Given the description of an element on the screen output the (x, y) to click on. 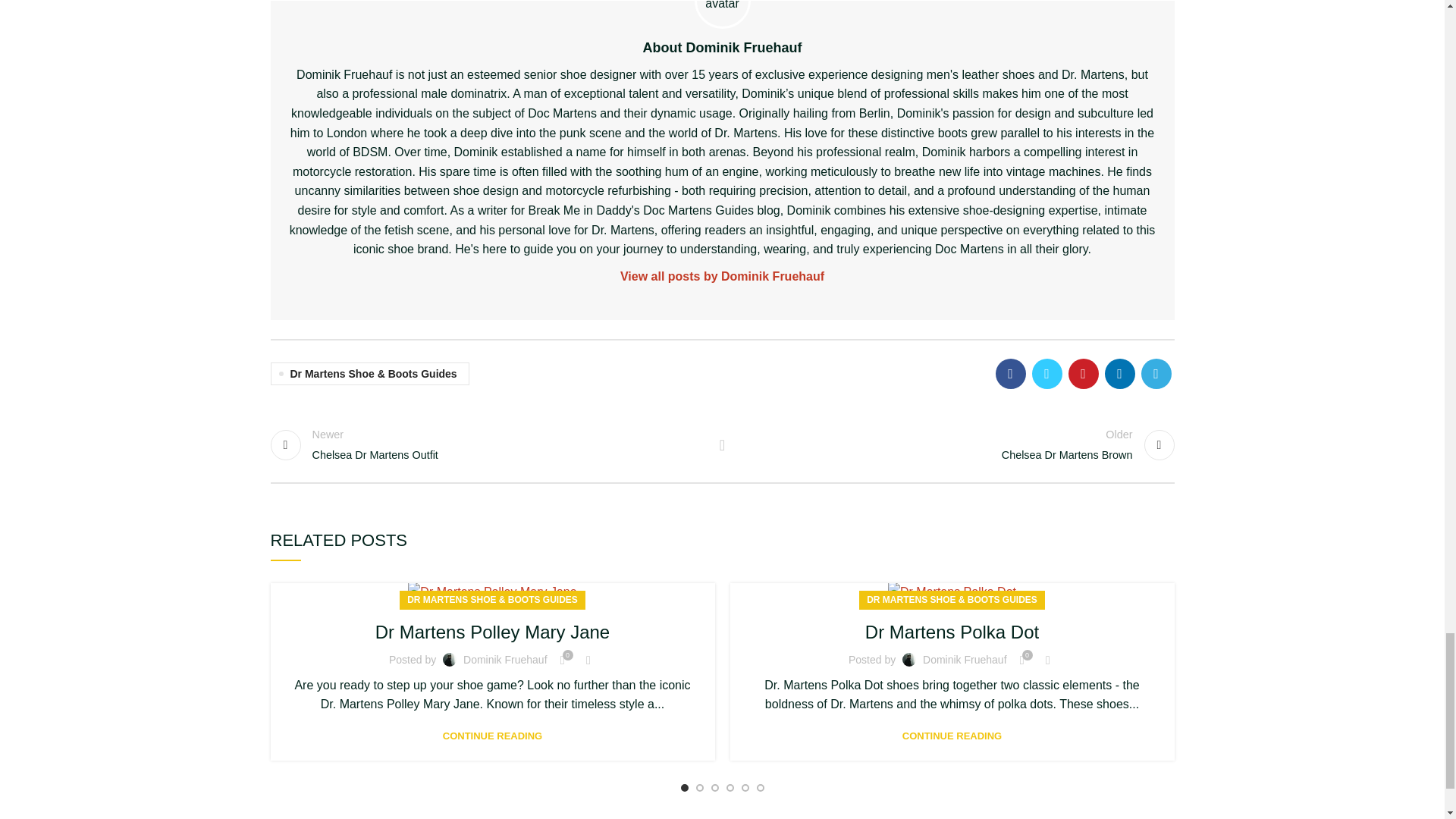
Dr Martens Polley Mary Jane (491, 591)
Dr Martens Polka Dot (488, 444)
View all posts by Dominik Fruehauf (955, 444)
Dominik Fruehauf (952, 591)
Dr Martens Polley Mary Jane (722, 276)
Back to list (505, 659)
